Given the description of an element on the screen output the (x, y) to click on. 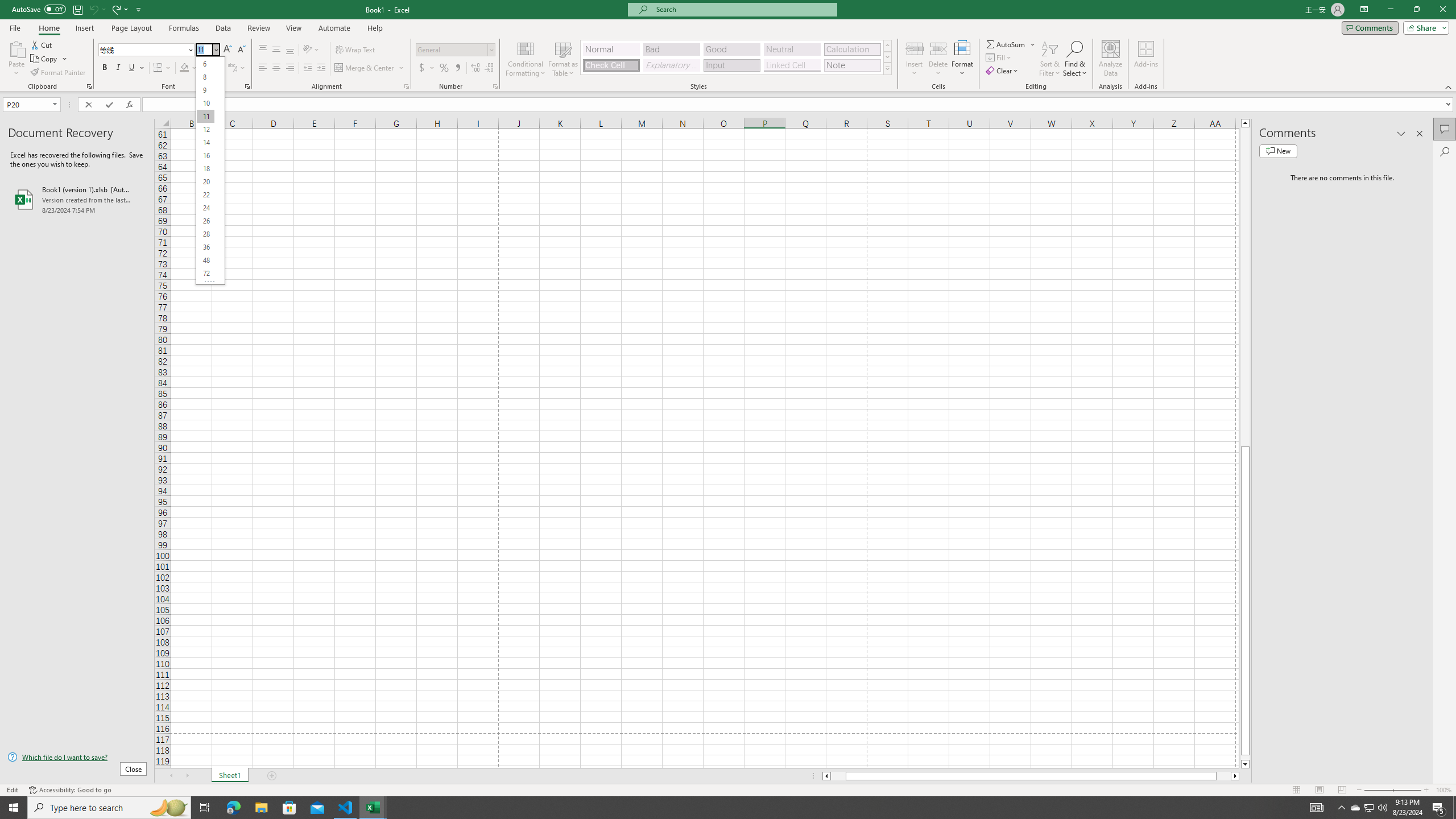
Delete (938, 58)
View (293, 28)
Page Layout (1318, 790)
Fill (999, 56)
Quick Access Toolbar (77, 9)
Minimize (1390, 9)
Copy (49, 58)
Share (1423, 27)
Microsoft search (742, 9)
Input (731, 65)
Line up (1245, 122)
Merge & Center (369, 67)
Class: NetUIImage (887, 68)
26 (205, 220)
